Given the description of an element on the screen output the (x, y) to click on. 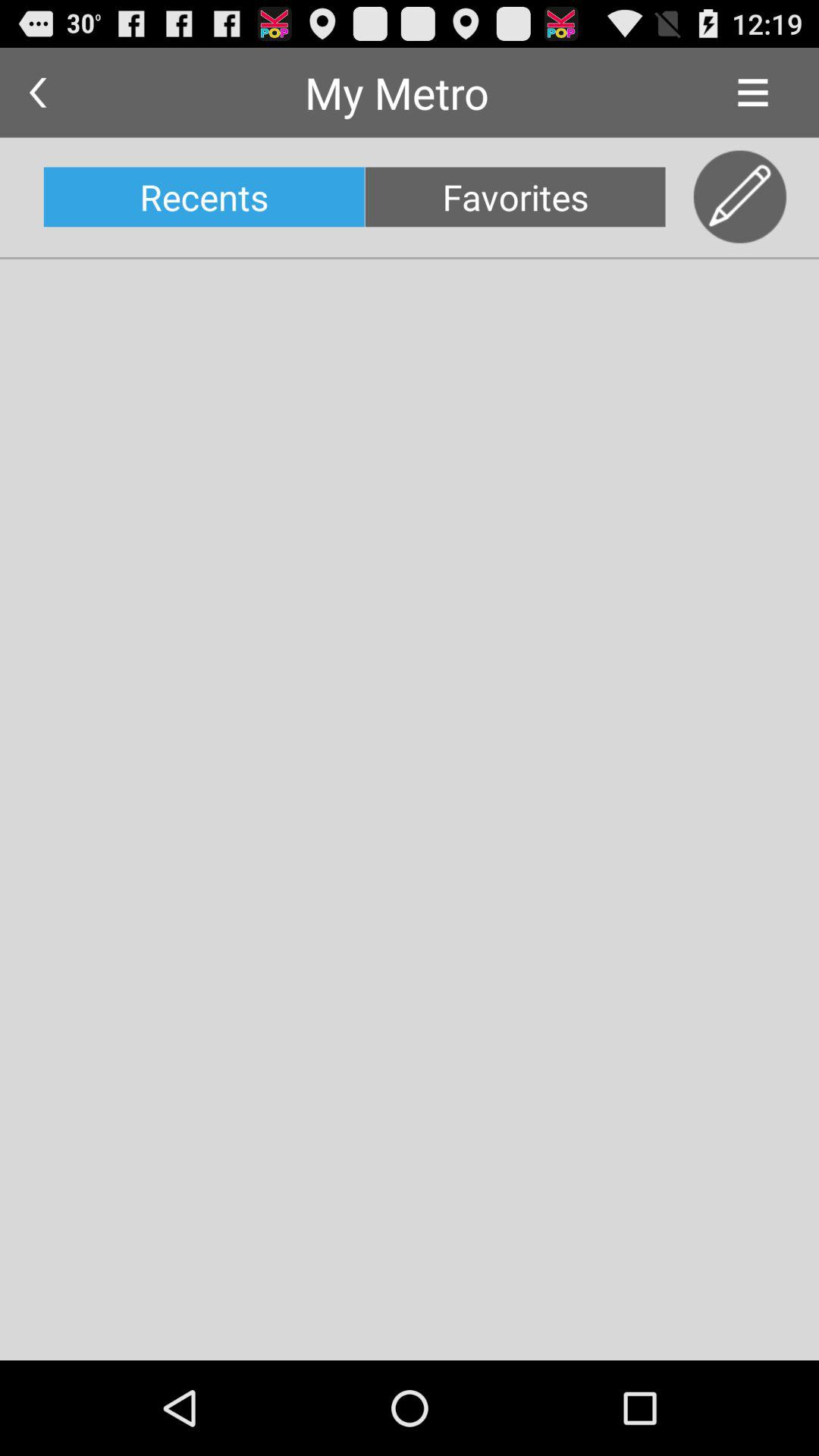
open the icon to the right of the recents app (515, 196)
